Given the description of an element on the screen output the (x, y) to click on. 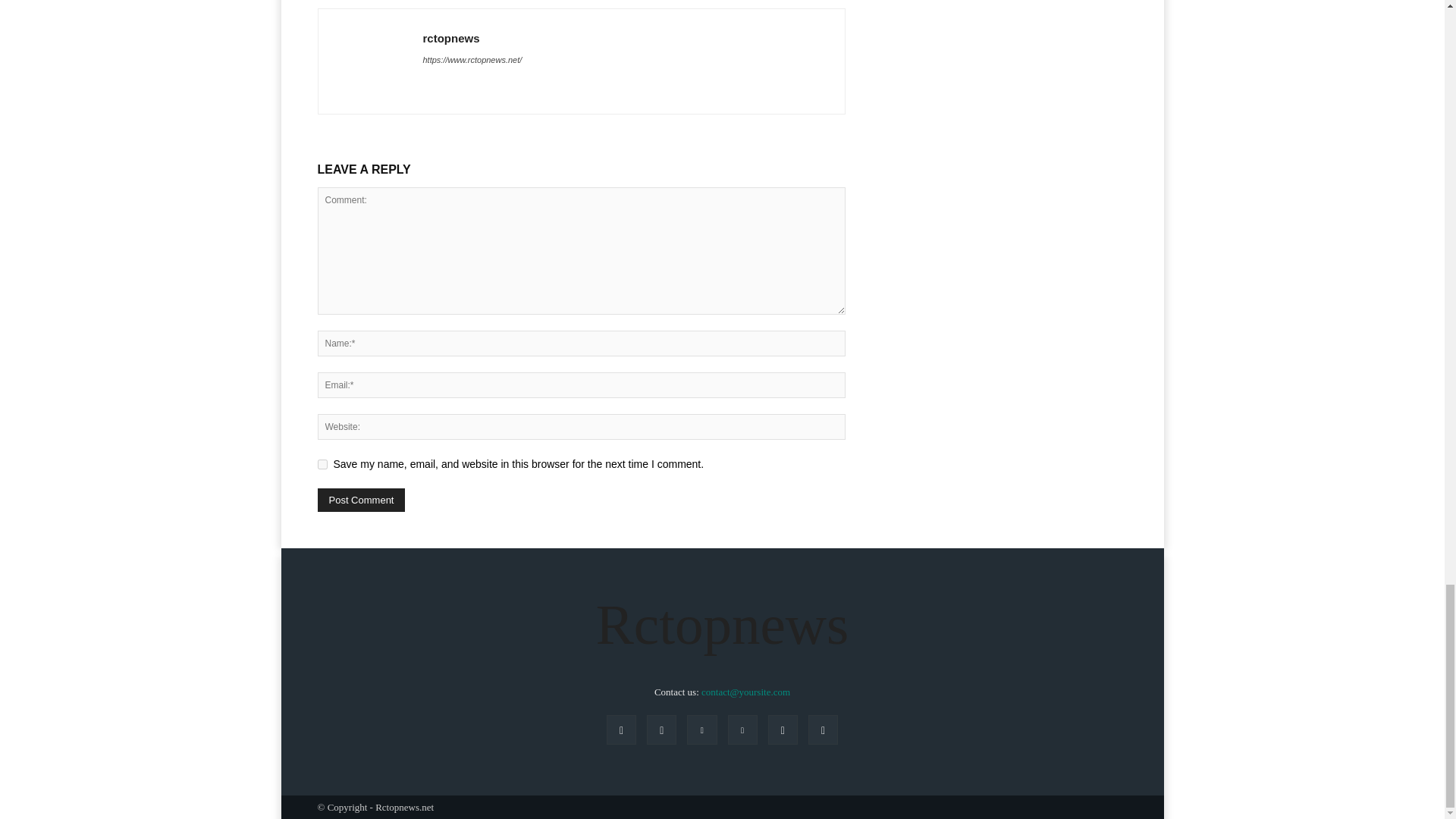
Post Comment (360, 499)
yes (321, 464)
